Given the description of an element on the screen output the (x, y) to click on. 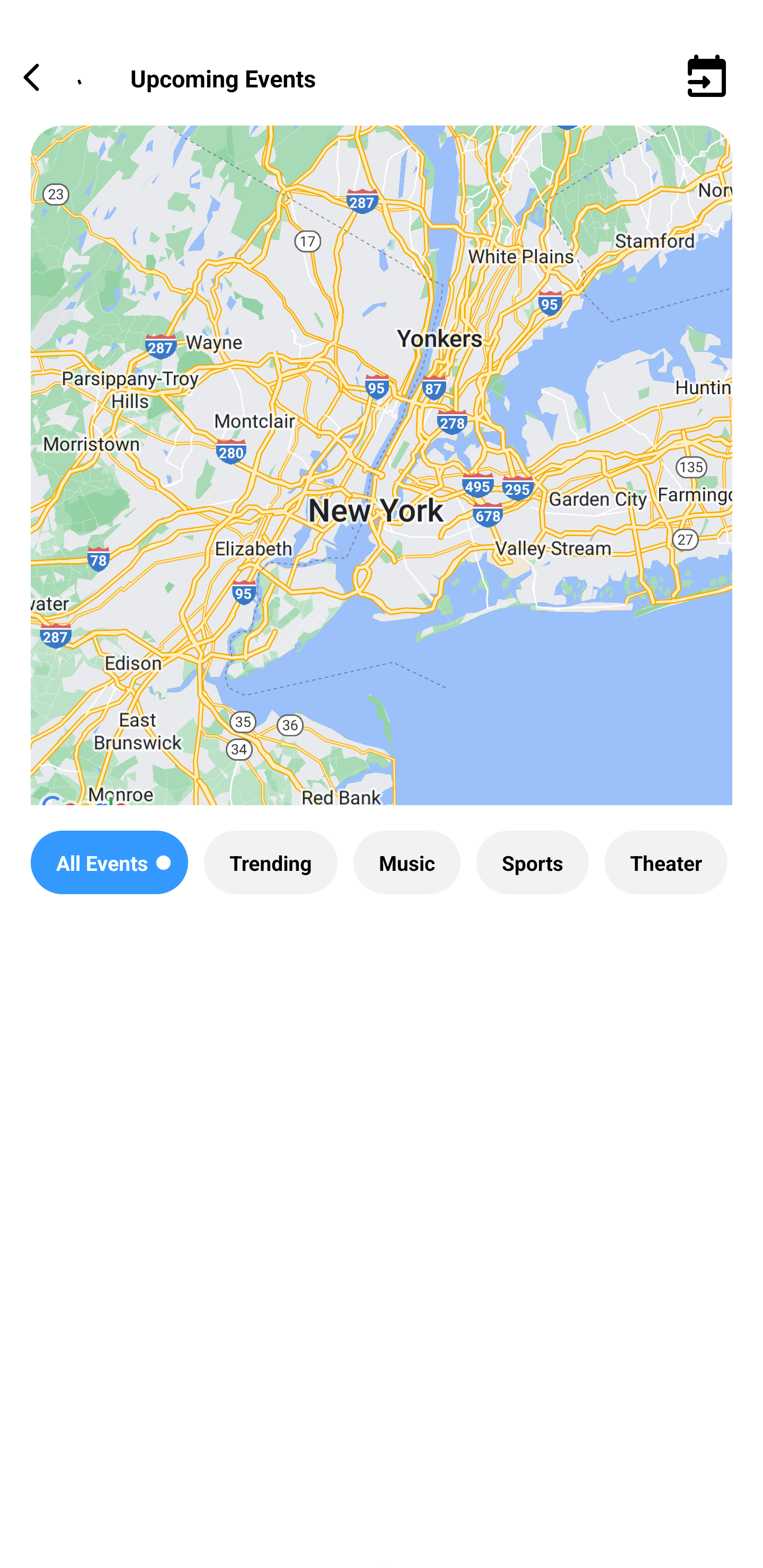
Google Map (381, 480)
All Events (109, 862)
Trending (270, 862)
Music (406, 862)
Sports (532, 862)
Theater (665, 862)
